Given the description of an element on the screen output the (x, y) to click on. 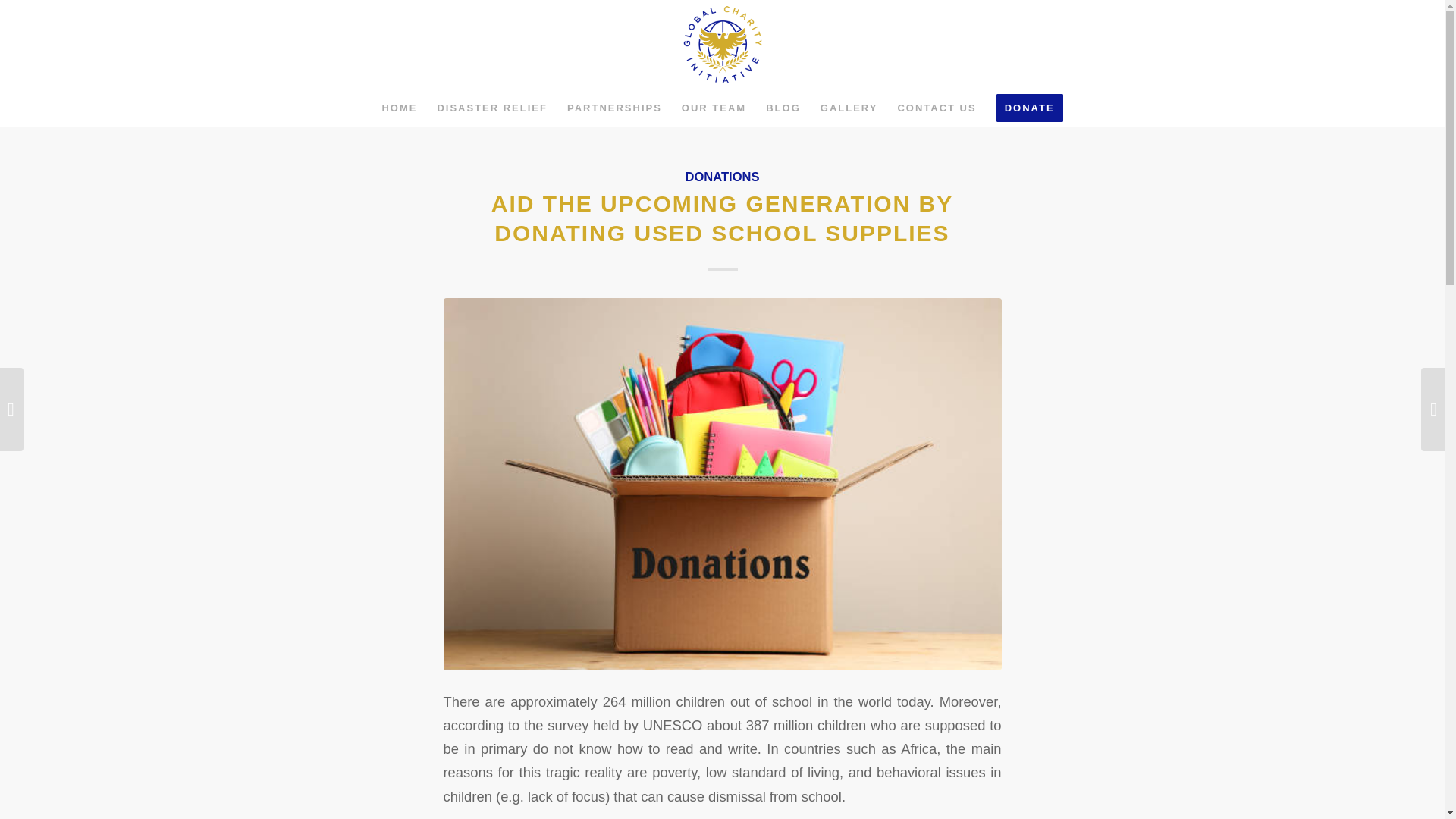
PARTNERSHIPS (614, 108)
DISASTER RELIEF (491, 108)
BLOG (782, 108)
gcilogo350 (722, 44)
CONTACT US (935, 108)
GALLERY (849, 108)
DONATE (1030, 108)
OUR TEAM (713, 108)
HOME (398, 108)
DONATIONS (721, 176)
